Given the description of an element on the screen output the (x, y) to click on. 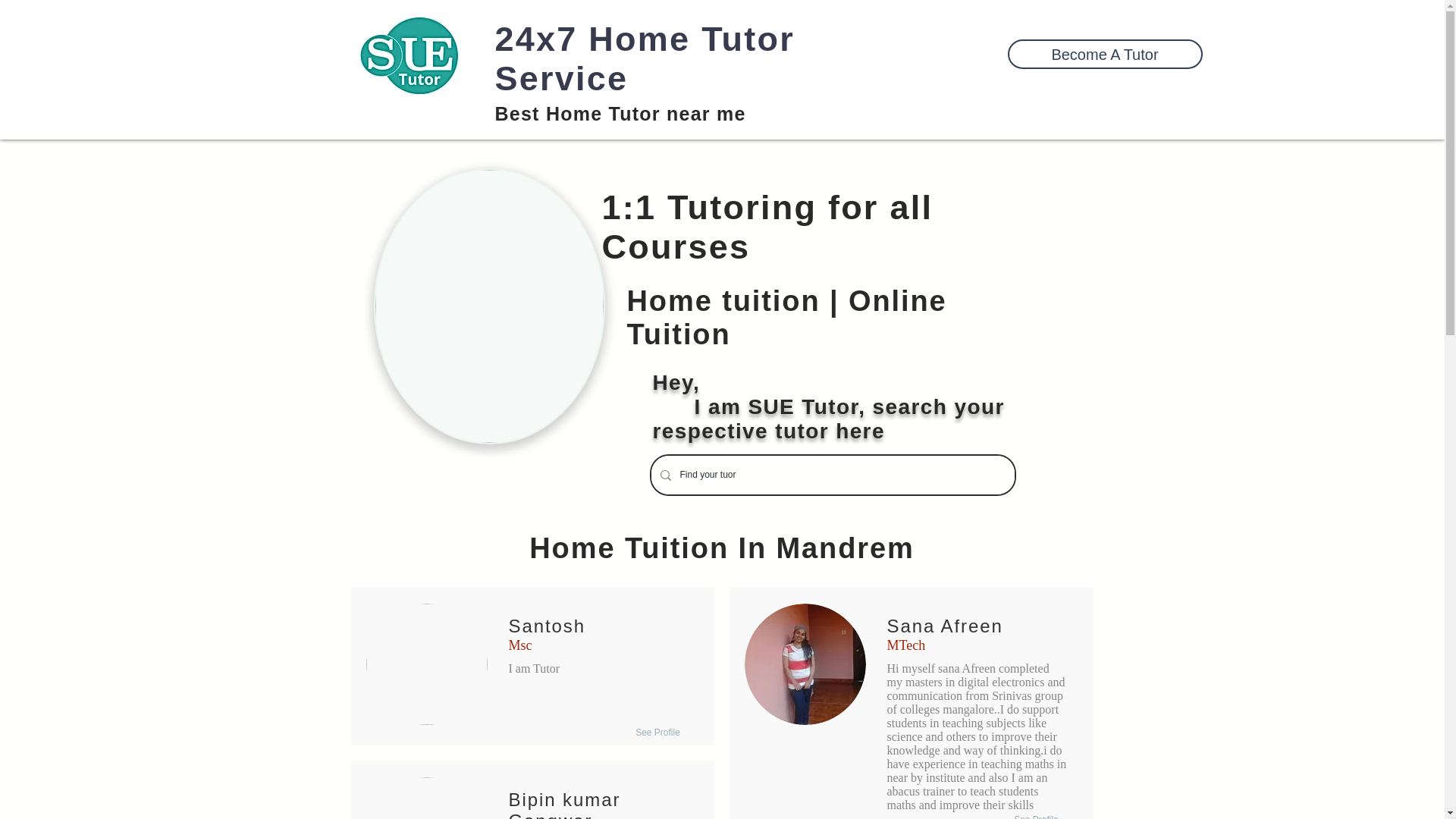
Home Tutor in Pune near by locaton (407, 54)
Become A Tutor (1104, 53)
IMG-20220601-WA0006.jpg (425, 663)
